Given the description of an element on the screen output the (x, y) to click on. 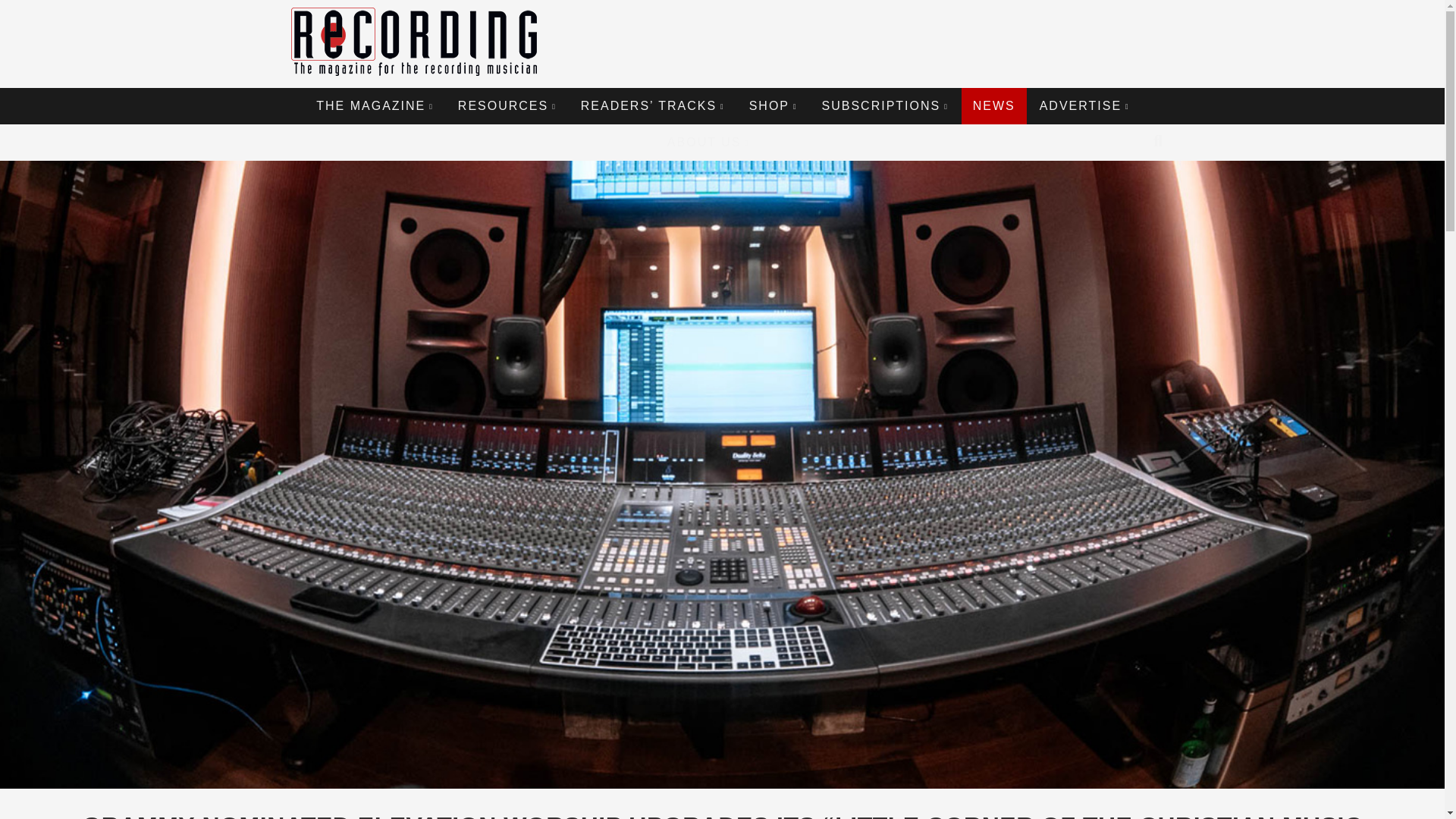
THE MAGAZINE (374, 105)
RESOURCES (506, 105)
